Given the description of an element on the screen output the (x, y) to click on. 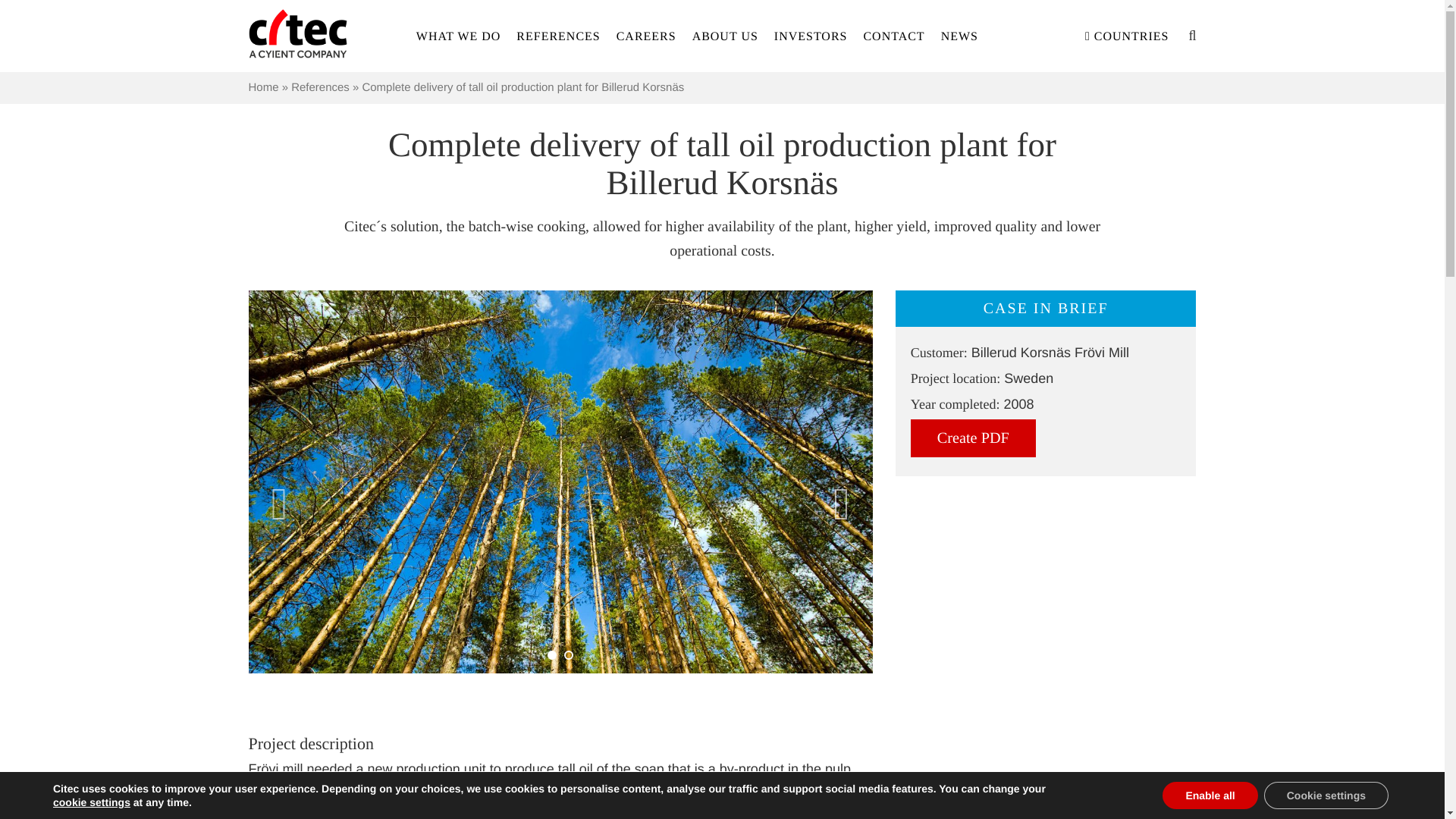
ABOUT US (724, 33)
WHAT WE DO (458, 33)
CONTACT (893, 33)
References (320, 87)
REFERENCES (558, 33)
COUNTRIES (1126, 33)
Create PDF (973, 438)
INVESTORS (810, 33)
CAREERS (646, 33)
